Given the description of an element on the screen output the (x, y) to click on. 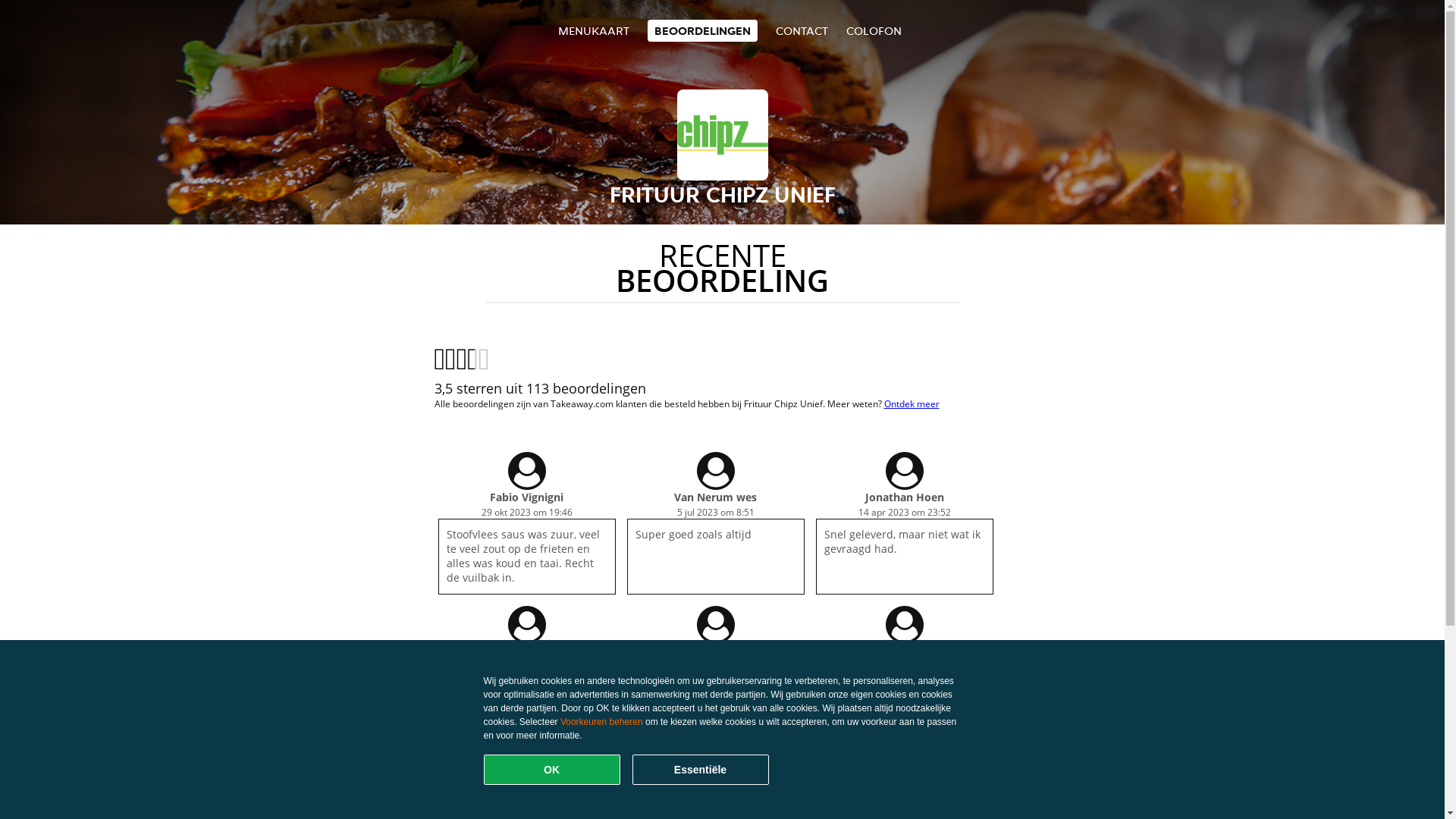
BEOORDELINGEN Element type: text (702, 30)
Ontdek meer Element type: text (911, 403)
Voorkeuren beheren Element type: text (601, 721)
OK Element type: text (551, 769)
COLOFON Element type: text (873, 30)
MENUKAART Element type: text (593, 30)
CONTACT Element type: text (801, 30)
